Given the description of an element on the screen output the (x, y) to click on. 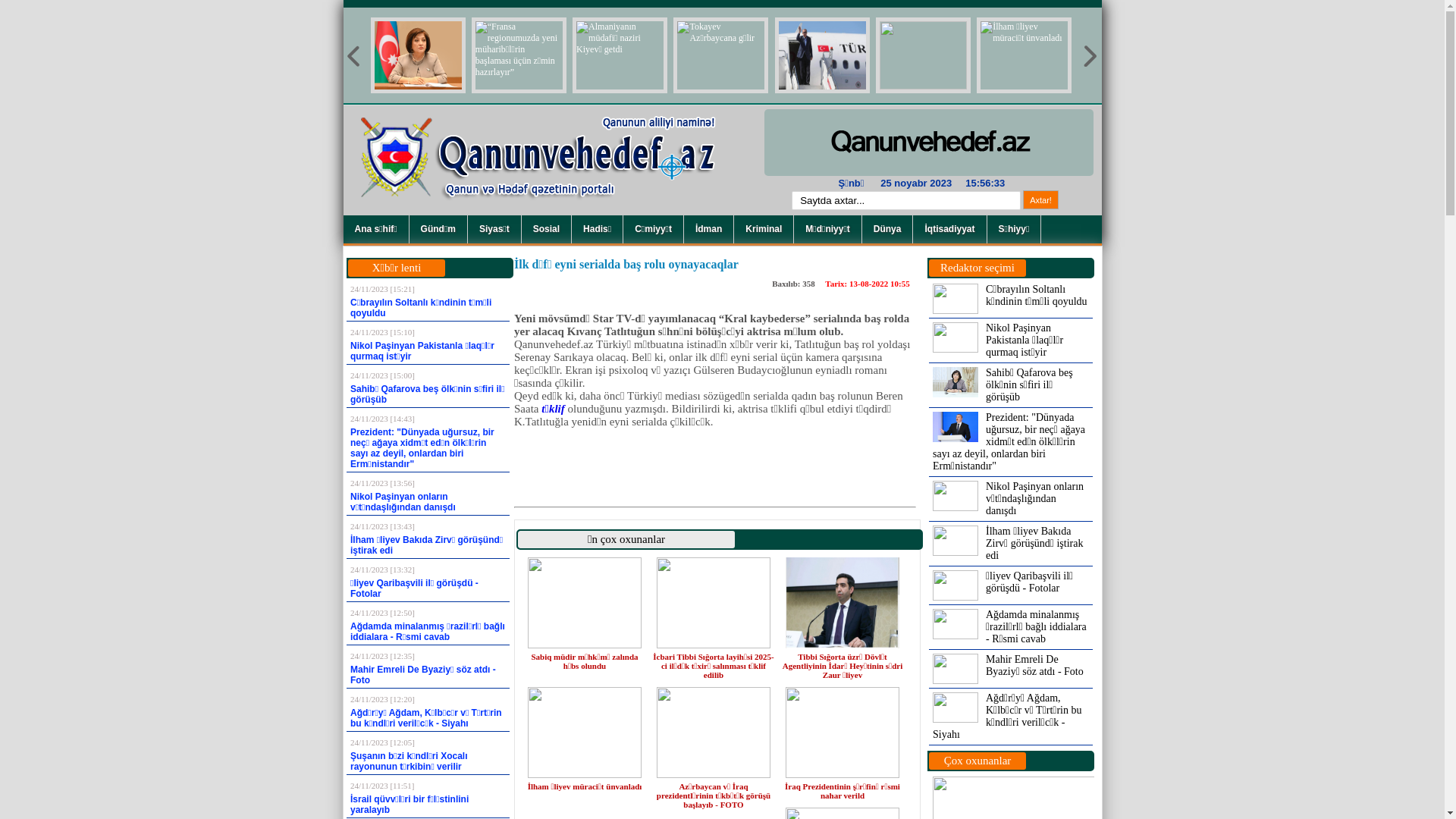
Saytda axtar... Element type: hover (905, 200)
Kriminal Element type: text (763, 229)
Sosial Element type: text (546, 229)
Axtar! Element type: text (1040, 199)
